Given the description of an element on the screen output the (x, y) to click on. 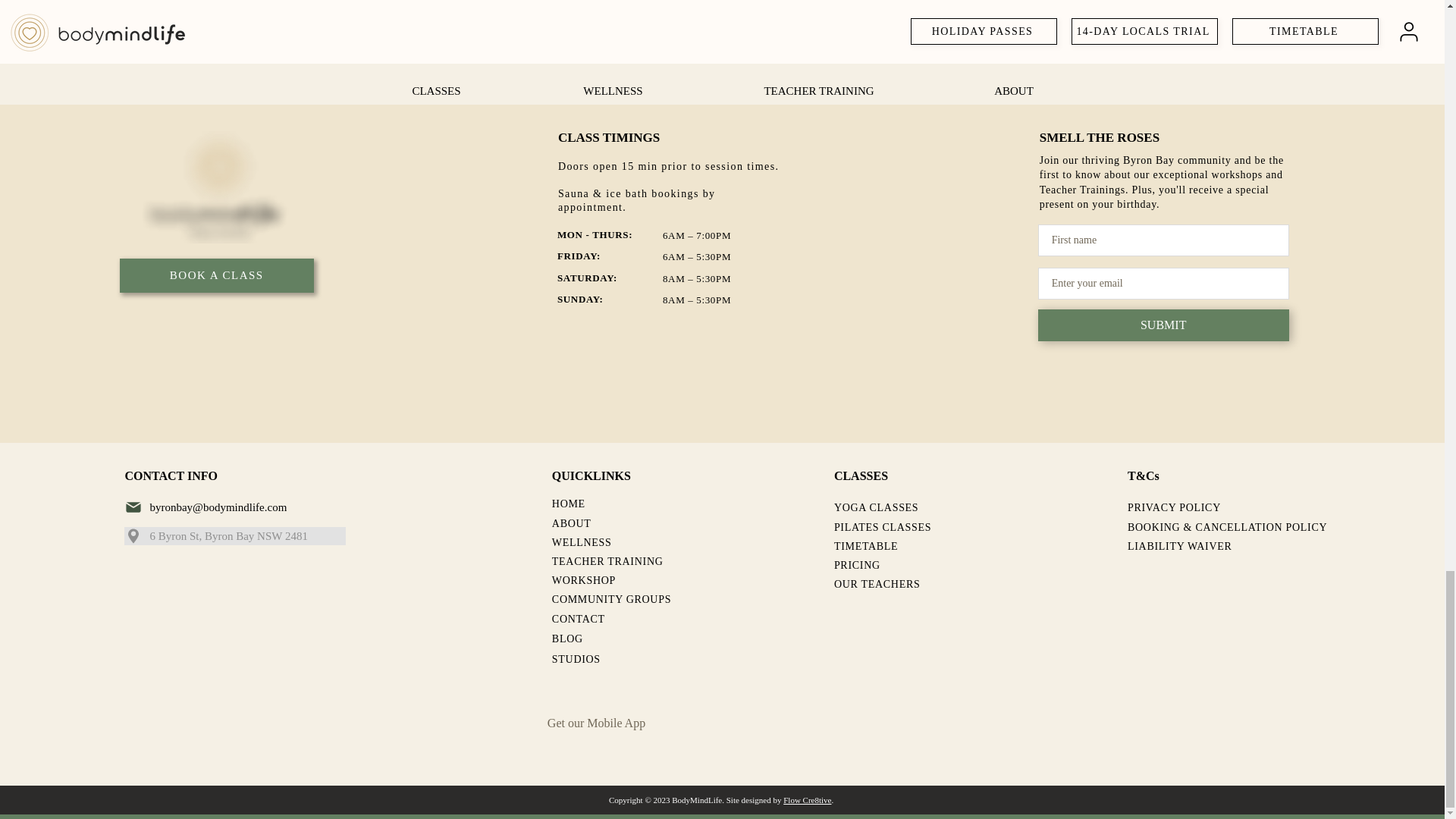
0 (440, 3)
Google Maps (555, 3)
